Given the description of an element on the screen output the (x, y) to click on. 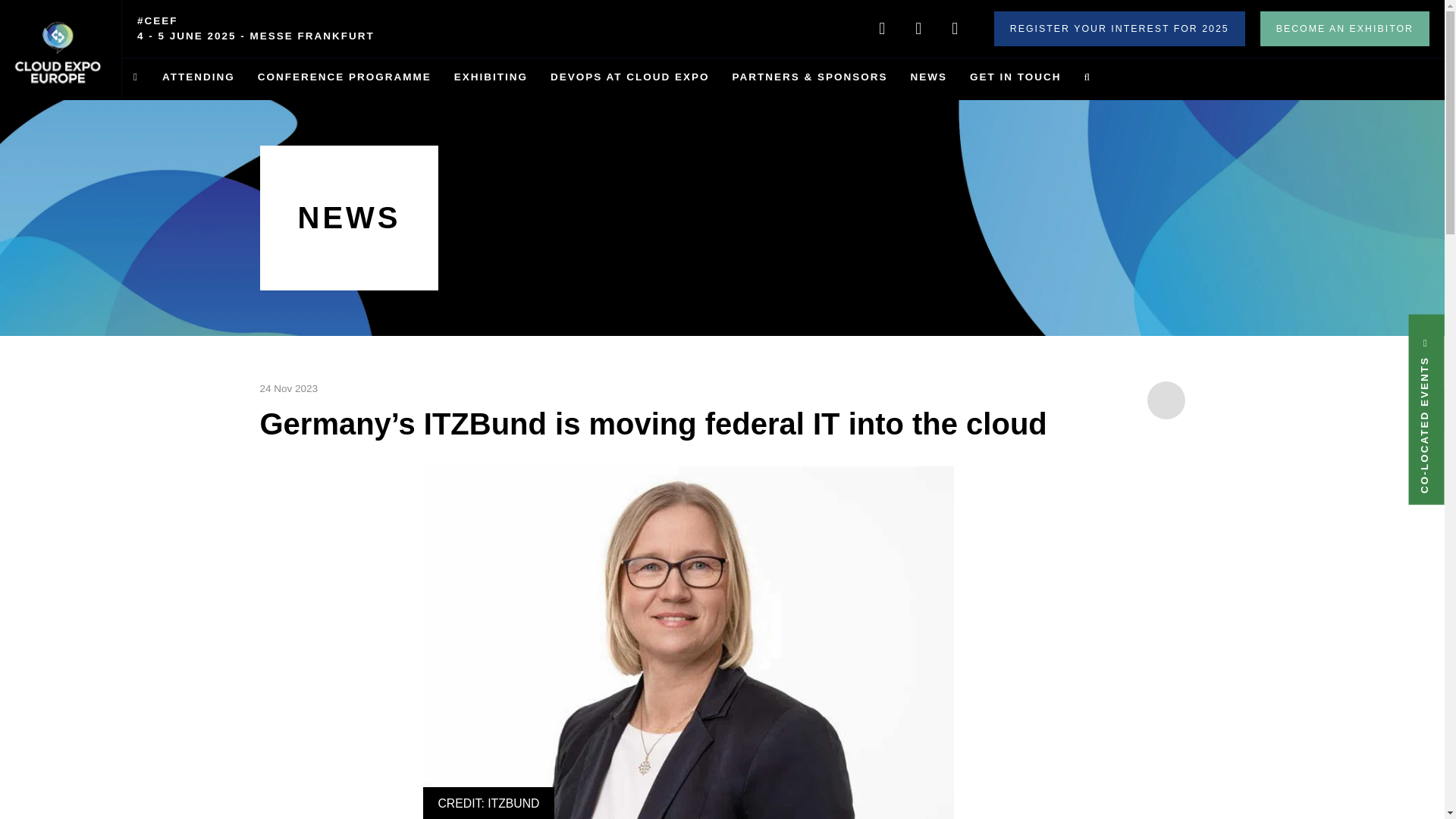
REGISTER YOUR INTEREST FOR 2025 (1119, 28)
Facebook (955, 28)
LinkedIn (882, 28)
Twitter (918, 28)
